Given the description of an element on the screen output the (x, y) to click on. 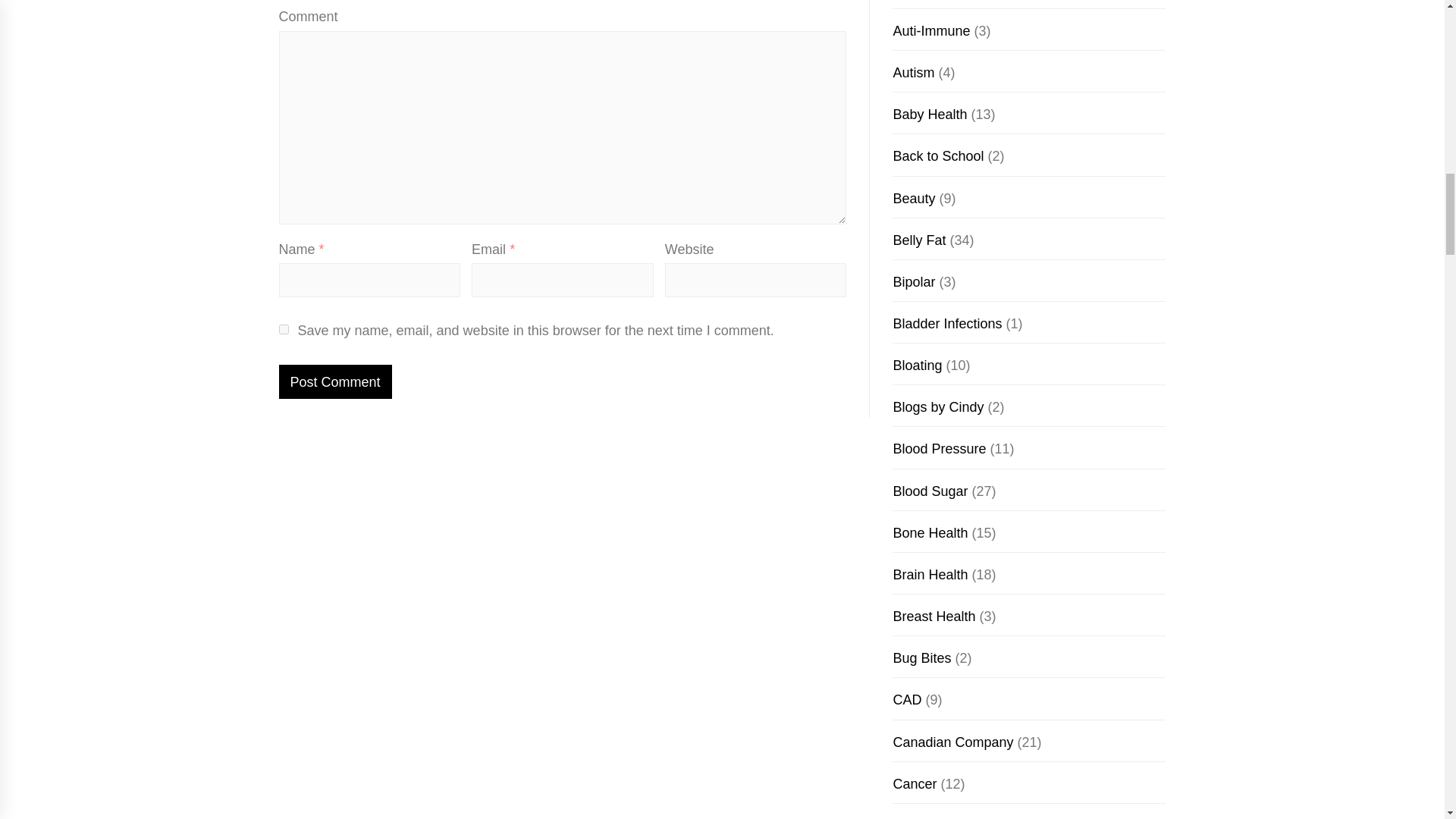
yes (283, 329)
Post Comment (335, 381)
Post Comment (335, 381)
